Given the description of an element on the screen output the (x, y) to click on. 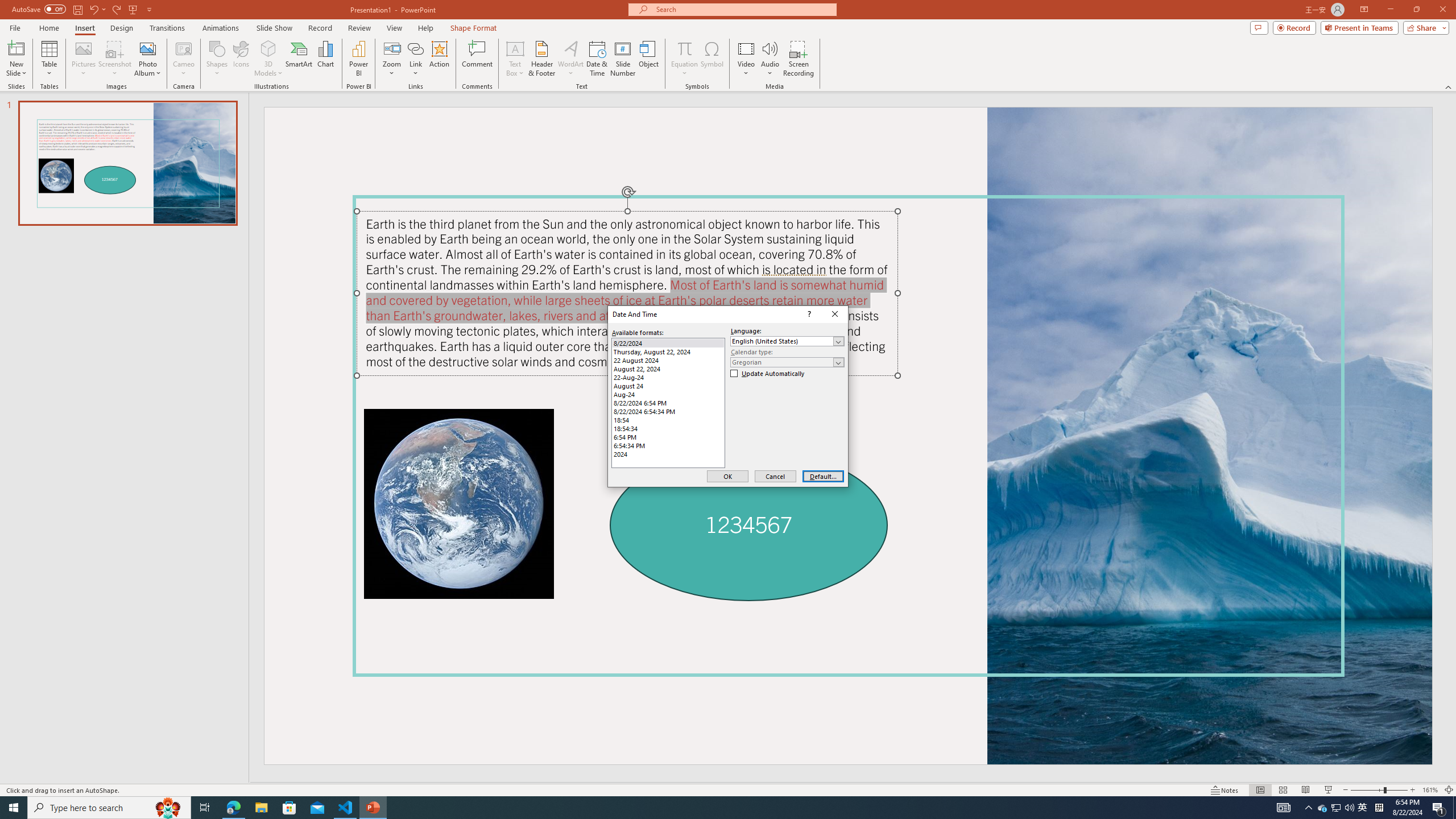
Draw Horizontal Text Box (515, 48)
August 24 (667, 385)
Shape Format (473, 28)
Q2790: 100% (1362, 807)
File Explorer (1349, 807)
